Given the description of an element on the screen output the (x, y) to click on. 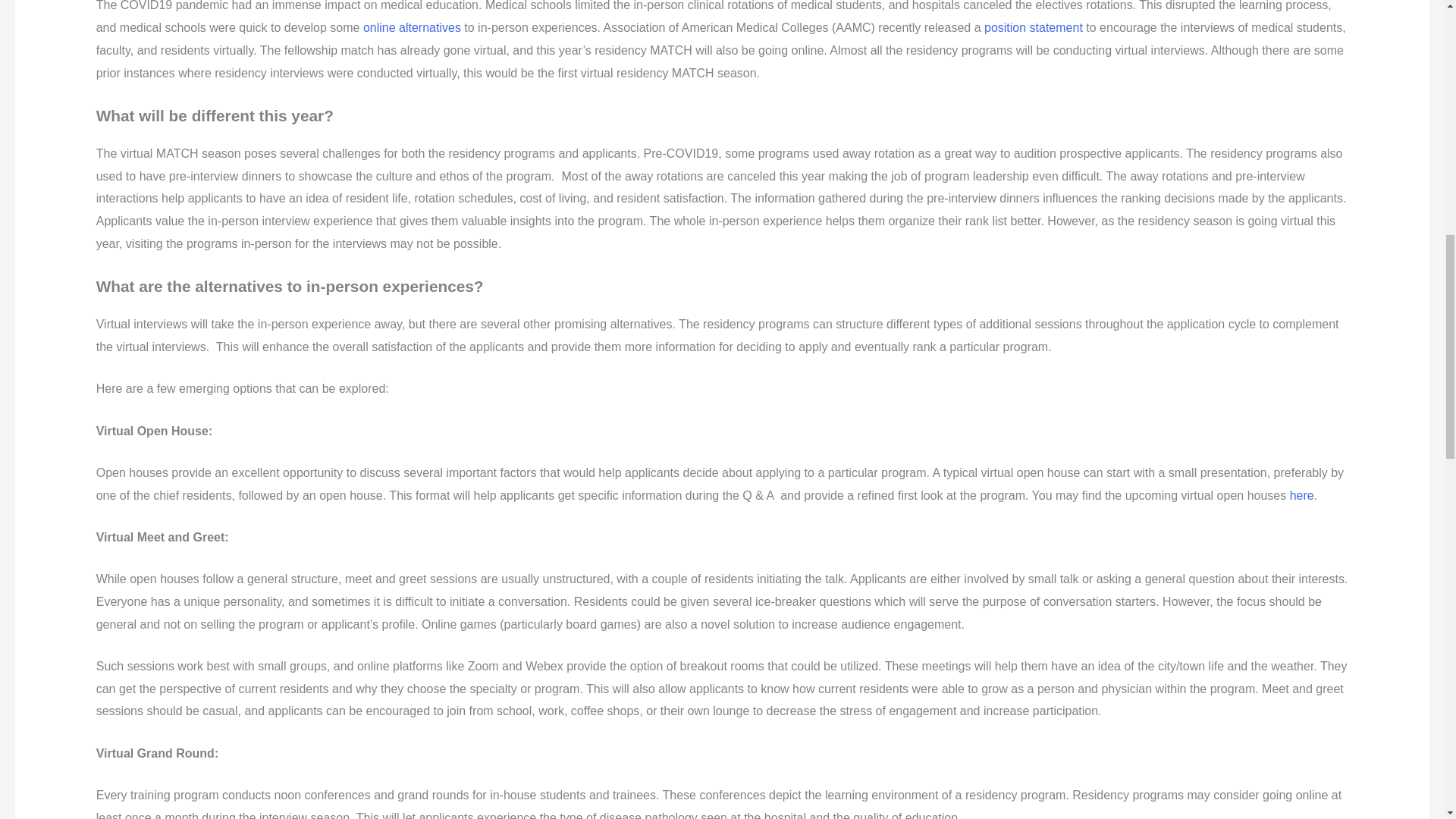
position statement (1033, 27)
online alternatives (411, 27)
here (1302, 495)
